Given the description of an element on the screen output the (x, y) to click on. 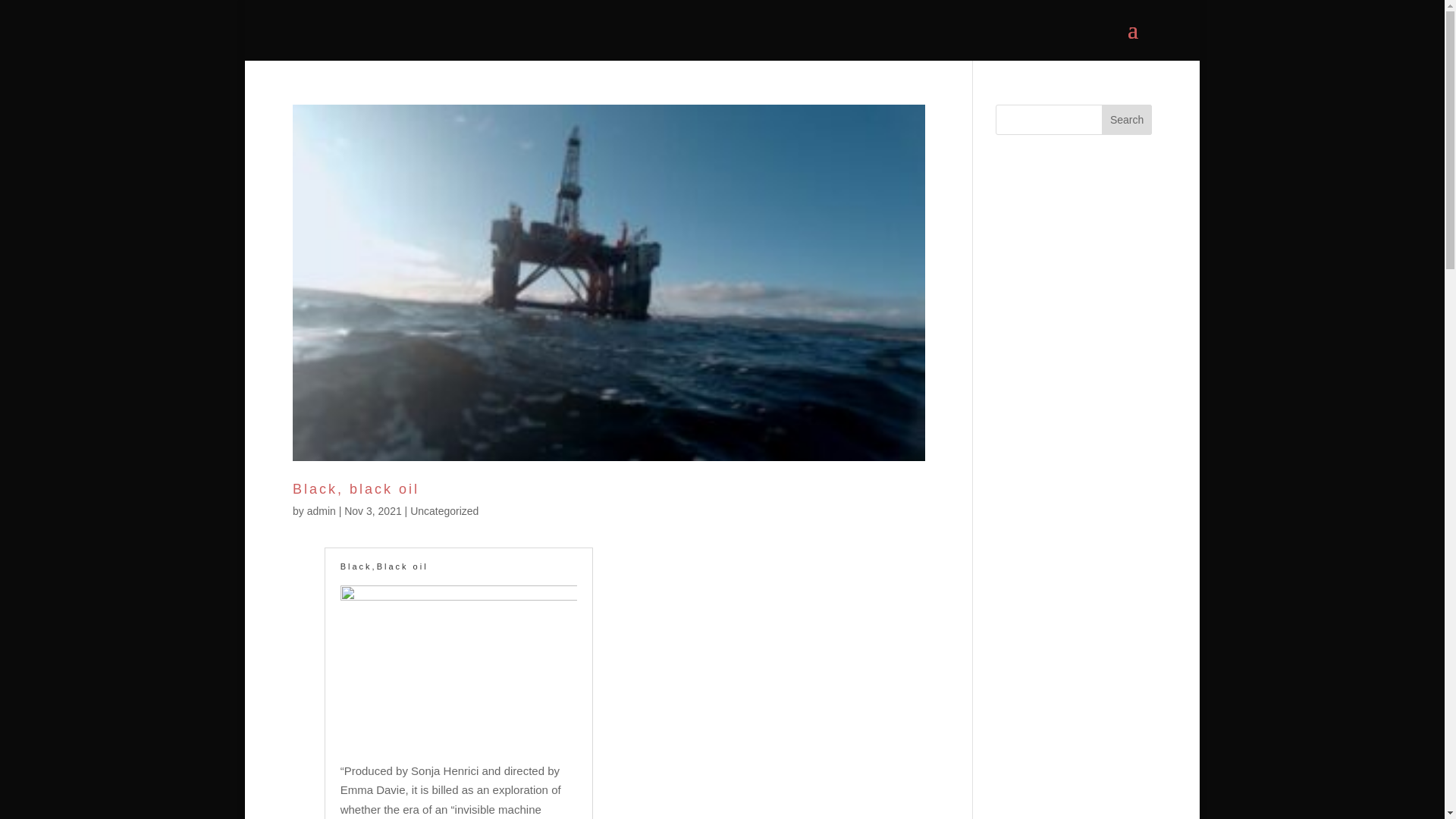
Posts by admin (321, 510)
admin (321, 510)
Search (1126, 119)
Black, black oil (355, 488)
Uncategorized (444, 510)
